Given the description of an element on the screen output the (x, y) to click on. 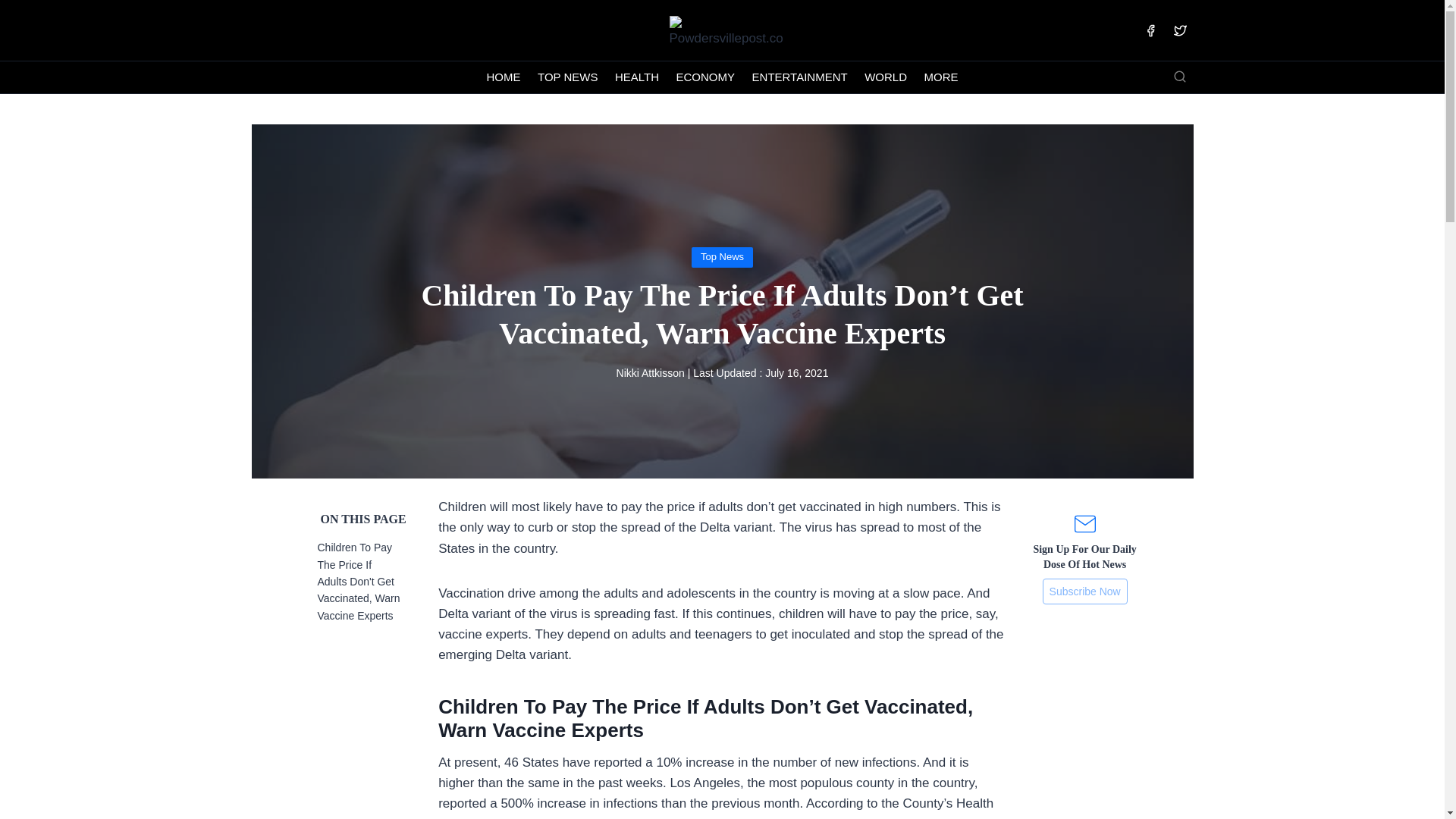
TOP NEWS (568, 77)
Top News (722, 256)
HOME (503, 77)
HEALTH (637, 77)
ECONOMY (704, 77)
ENTERTAINMENT (799, 77)
MORE (940, 77)
WORLD (885, 77)
